Given the description of an element on the screen output the (x, y) to click on. 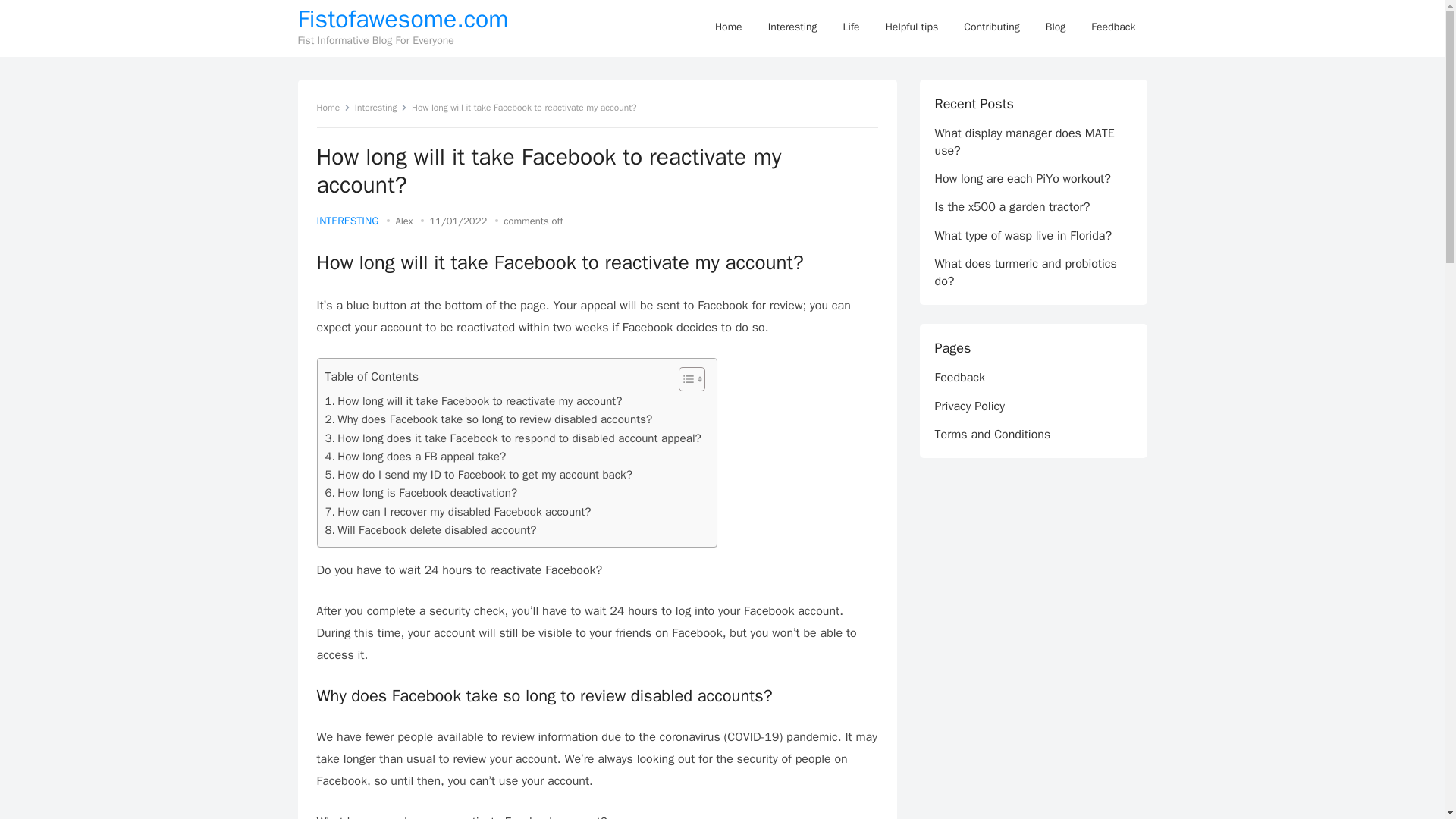
Home (728, 27)
Interesting (792, 27)
Interesting (381, 107)
How long will it take Facebook to reactivate my account? (472, 401)
Home (333, 107)
Fistofawesome.com (402, 19)
Will Facebook delete disabled account? (429, 529)
Feedback (1113, 27)
How do I send my ID to Facebook to get my account back? (477, 475)
How long is Facebook deactivation? (420, 493)
How do I send my ID to Facebook to get my account back? (477, 475)
How can I recover my disabled Facebook account? (457, 511)
Why does Facebook take so long to review disabled accounts? (488, 419)
